Given the description of an element on the screen output the (x, y) to click on. 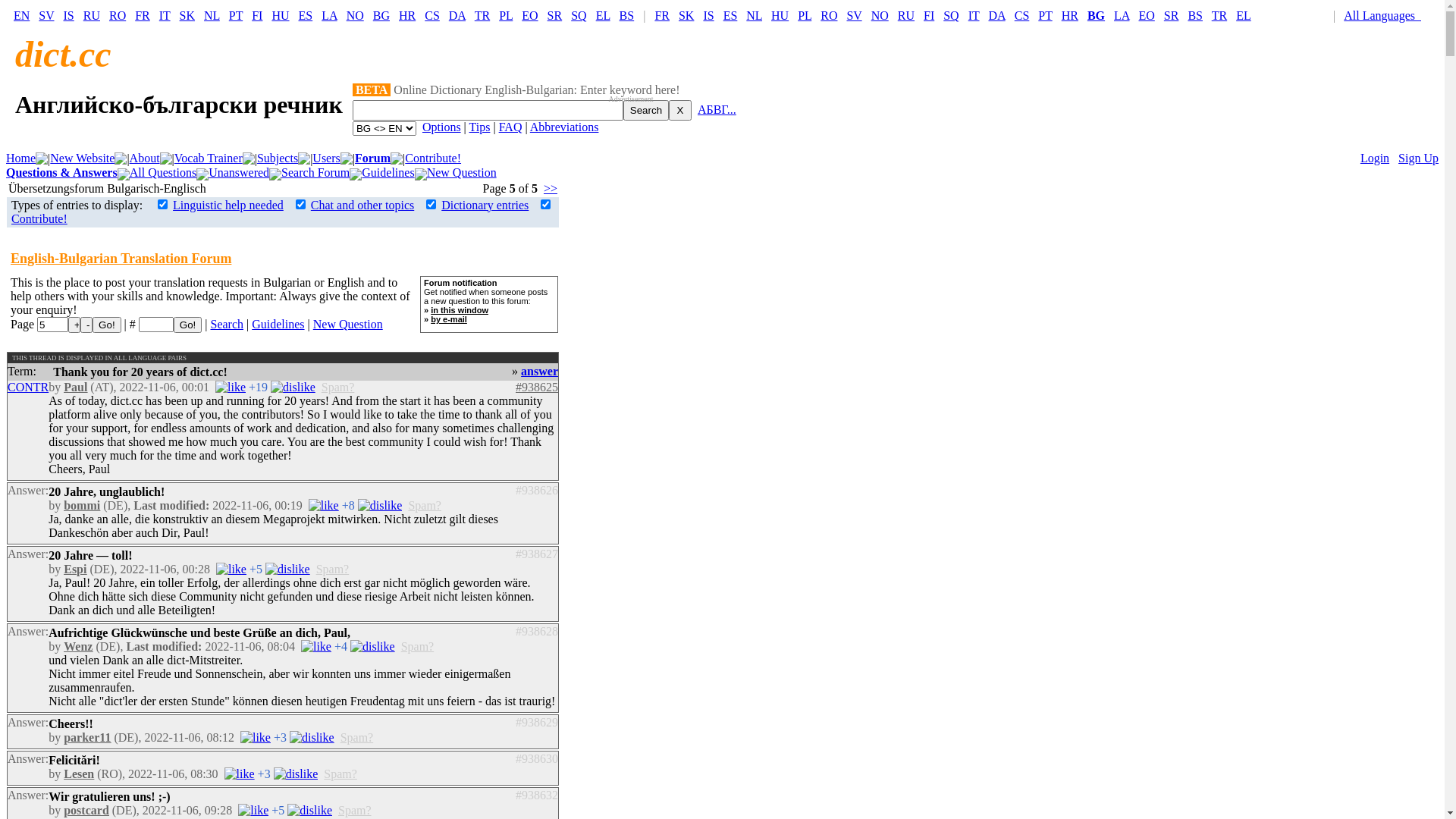
NL Element type: text (754, 15)
IS Element type: text (68, 15)
#938628 Element type: text (536, 630)
Espi Element type: text (74, 568)
ES Element type: text (305, 15)
SR Element type: text (554, 15)
BS Element type: text (1194, 15)
#938629 Element type: text (536, 721)
Options Element type: text (441, 126)
NO Element type: text (355, 15)
Wenz Element type: text (77, 646)
RO Element type: text (828, 15)
Home Element type: text (20, 157)
#938627 Element type: text (536, 553)
Contribute! Element type: text (432, 157)
DA Element type: text (996, 15)
About Element type: text (144, 157)
IS Element type: text (707, 15)
postcard Element type: text (86, 809)
Login Element type: text (1374, 157)
TR Element type: text (1218, 15)
SV Element type: text (45, 15)
HU Element type: text (279, 15)
on Element type: text (162, 204)
#938630 Element type: text (536, 758)
Questions & Answers Element type: text (61, 172)
CONTR Element type: text (27, 386)
+19 Element type: text (257, 386)
Search Element type: text (645, 110)
TR Element type: text (481, 15)
Guidelines Element type: text (277, 323)
>> Element type: text (550, 188)
BS Element type: text (626, 15)
Tips Element type: text (479, 126)
EN Element type: text (21, 15)
CS Element type: text (431, 15)
NO Element type: text (879, 15)
PT Element type: text (235, 15)
ES Element type: text (730, 15)
LA Element type: text (1121, 15)
PL Element type: text (505, 15)
Spam? Element type: text (340, 773)
HU Element type: text (779, 15)
Spam? Element type: text (337, 386)
#938626 Element type: text (536, 489)
+8 Element type: text (348, 504)
All Languages  Element type: text (1385, 15)
dict.cc Element type: text (63, 54)
answer Element type: text (539, 370)
Spam? Element type: text (356, 737)
SQ Element type: text (578, 15)
Spam? Element type: text (332, 568)
IT Element type: text (164, 15)
Sign Up Element type: text (1418, 157)
NL Element type: text (211, 15)
SR Element type: text (1171, 15)
FR Element type: text (142, 15)
LA Element type: text (328, 15)
on Element type: text (545, 204)
Abbreviations Element type: text (564, 126)
CS Element type: text (1021, 15)
All Questions Element type: text (162, 172)
IT Element type: text (973, 15)
X Element type: text (679, 110)
Users Element type: text (325, 157)
Spam? Element type: text (354, 809)
EL Element type: text (603, 15)
FI Element type: text (256, 15)
EL Element type: text (1243, 15)
+5 Element type: text (255, 568)
+5 Element type: text (277, 809)
EO Element type: text (1146, 15)
Spam? Element type: text (417, 646)
EO Element type: text (529, 15)
+3 Element type: text (263, 773)
Unanswered Element type: text (238, 172)
bommi Element type: text (81, 504)
RU Element type: text (905, 15)
PT Element type: text (1044, 15)
Vocab Trainer Element type: text (208, 157)
SV Element type: text (853, 15)
BG Element type: text (1095, 15)
BG Element type: text (381, 15)
Paul Element type: text (75, 386)
on Element type: text (300, 204)
FAQ Element type: text (510, 126)
Chat and other topics Element type: text (362, 204)
PL Element type: text (804, 15)
RU Element type: text (91, 15)
on Element type: text (431, 204)
New Question Element type: text (347, 323)
Spam? Element type: text (424, 504)
Search Element type: text (226, 323)
+4 Element type: text (340, 646)
Guidelines Element type: text (387, 172)
HR Element type: text (1069, 15)
New Website Element type: text (82, 157)
parker11 Element type: text (86, 737)
#938625 Element type: text (536, 386)
RO Element type: text (117, 15)
Subjects Element type: text (277, 157)
New Question Element type: text (461, 172)
FR Element type: text (661, 15)
FI Element type: text (928, 15)
Lesen Element type: text (78, 773)
Search Forum Element type: text (315, 172)
#938632 Element type: text (536, 794)
Go! Element type: text (187, 324)
English-Bulgarian Translation Forum Element type: text (120, 258)
SK Element type: text (685, 15)
Dictionary entries Element type: text (484, 204)
Forum Element type: text (372, 157)
Go! Element type: text (106, 324)
HR Element type: text (406, 15)
SK Element type: text (186, 15)
+3 Element type: text (279, 737)
Linguistic help needed Element type: text (227, 204)
SQ Element type: text (950, 15)
Contribute! Element type: text (39, 218)
DA Element type: text (456, 15)
